Given the description of an element on the screen output the (x, y) to click on. 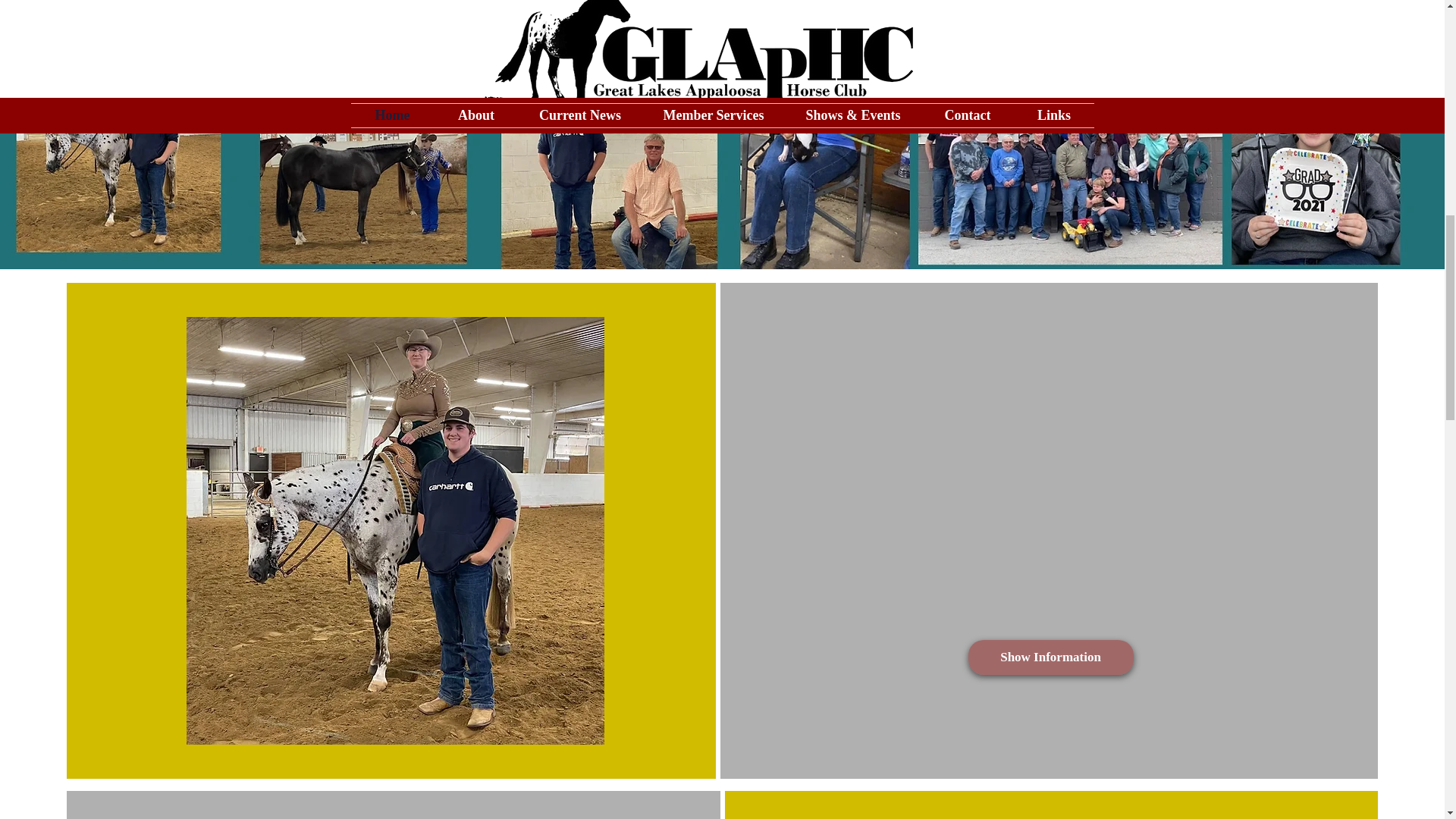
Show Information (1051, 656)
